Given the description of an element on the screen output the (x, y) to click on. 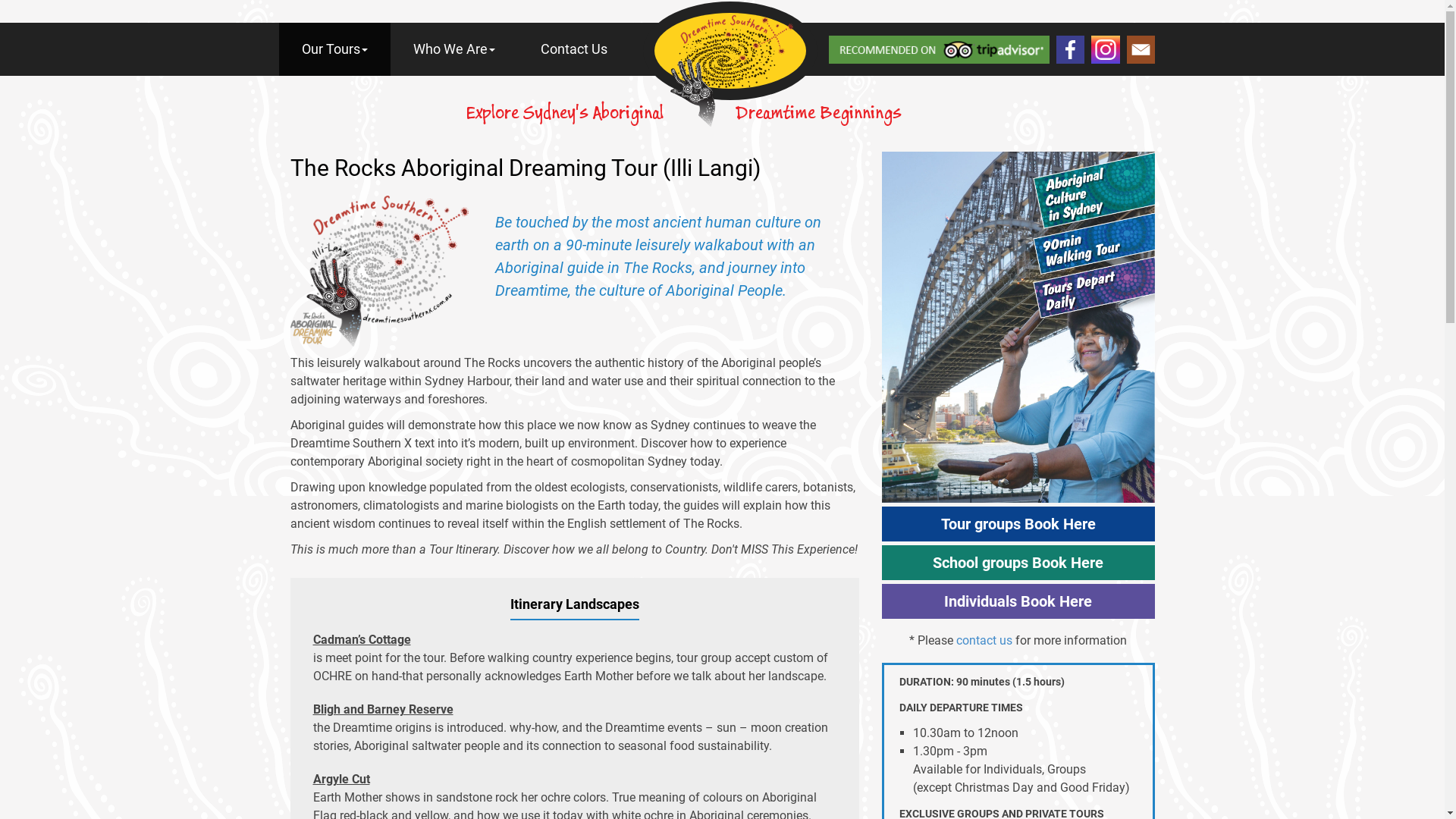
Contact Us Element type: text (573, 48)
Tour groups Book Here Element type: text (1017, 523)
My Website Element type: hover (731, 73)
School groups Book Here Element type: text (1017, 562)
Our Tours Element type: text (334, 48)
contact us Element type: text (984, 640)
Who We Are Element type: text (453, 48)
Individuals Book Here Element type: text (1018, 601)
